Given the description of an element on the screen output the (x, y) to click on. 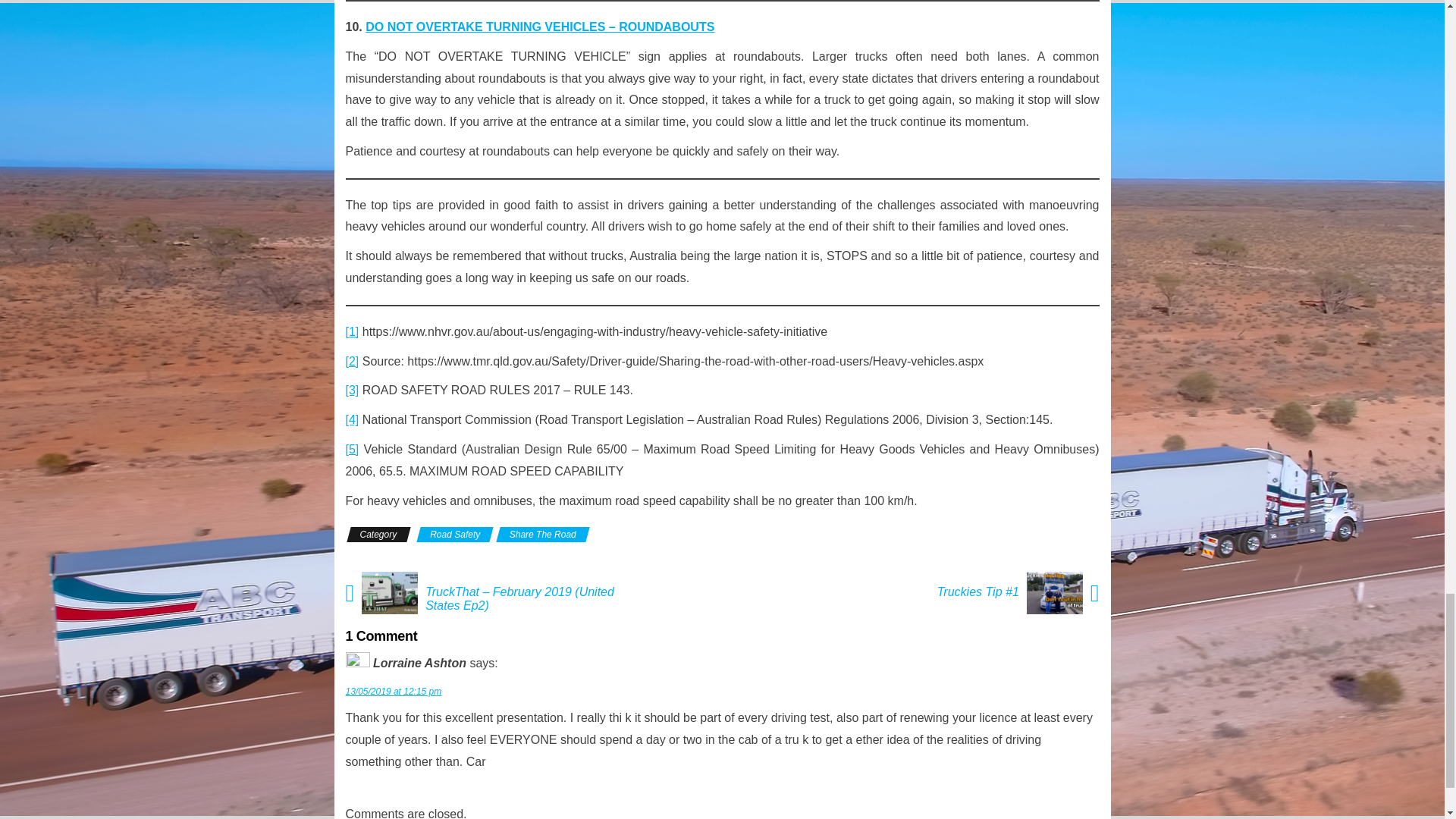
Road Safety (455, 534)
Share The Road (542, 534)
